Given the description of an element on the screen output the (x, y) to click on. 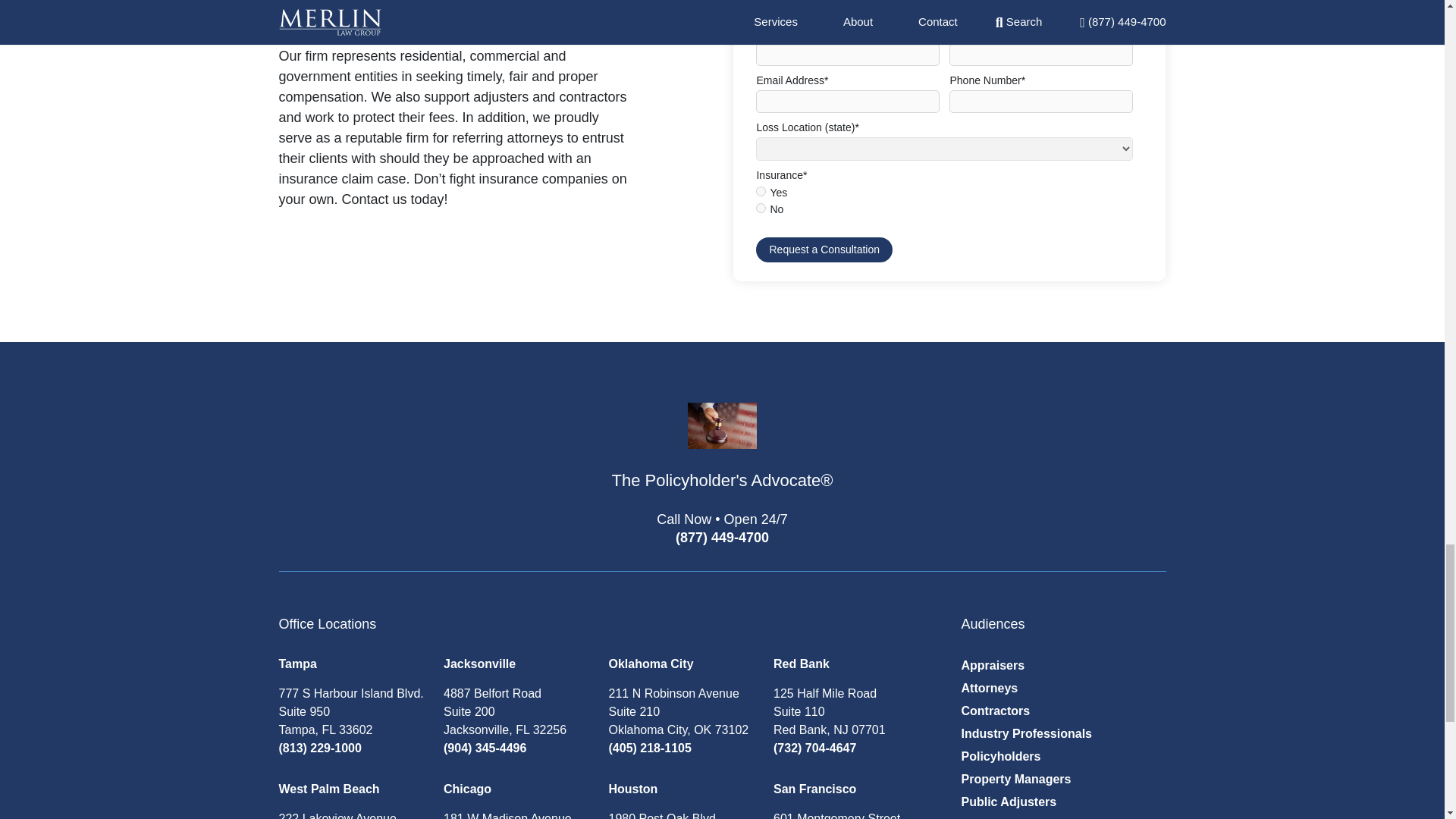
Property Insurance Coverage Law Blog (722, 458)
No (760, 207)
Request a Consultation (823, 249)
Yes (760, 191)
